Given the description of an element on the screen output the (x, y) to click on. 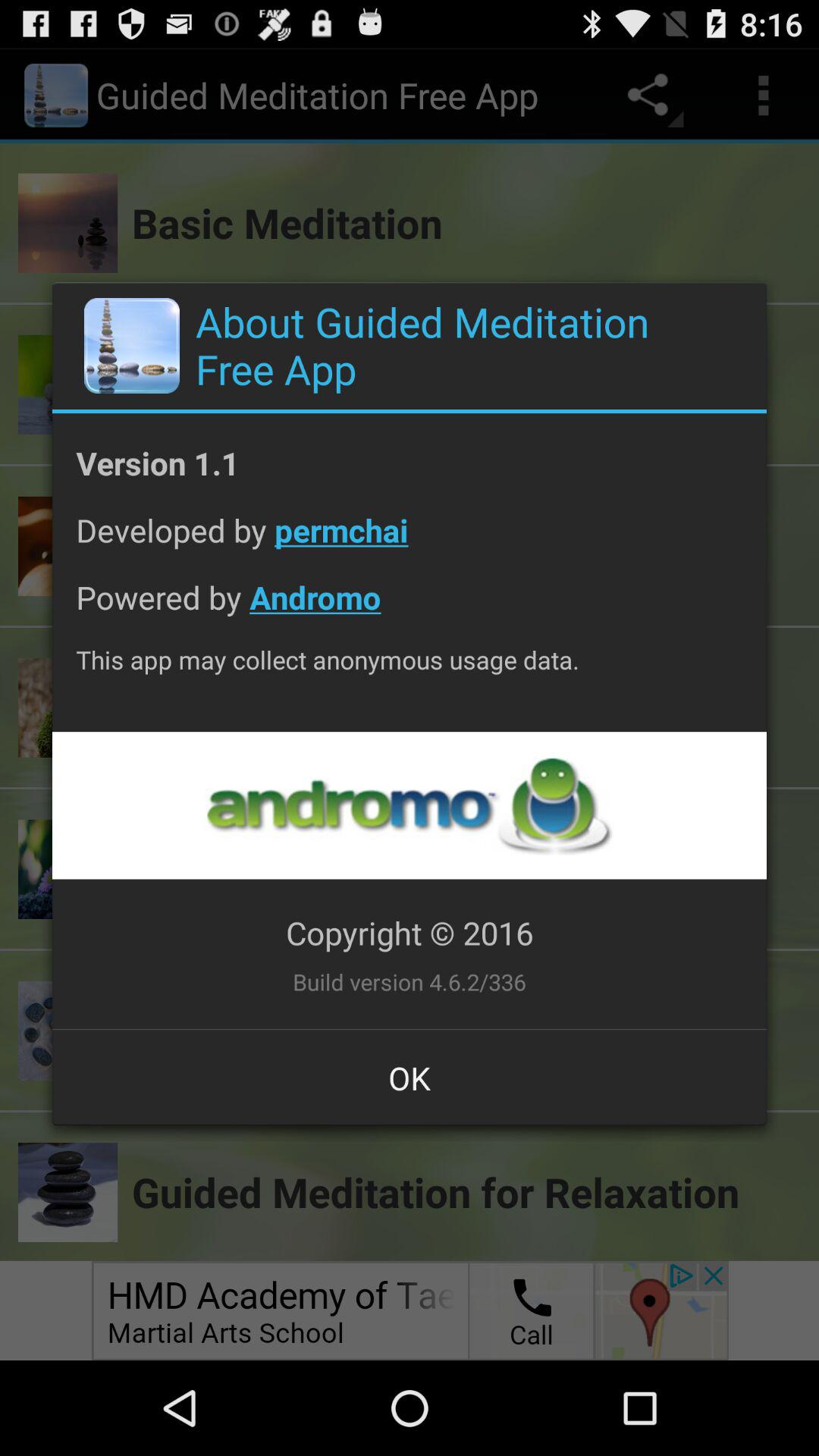
select the app below version 1.1 (409, 541)
